Given the description of an element on the screen output the (x, y) to click on. 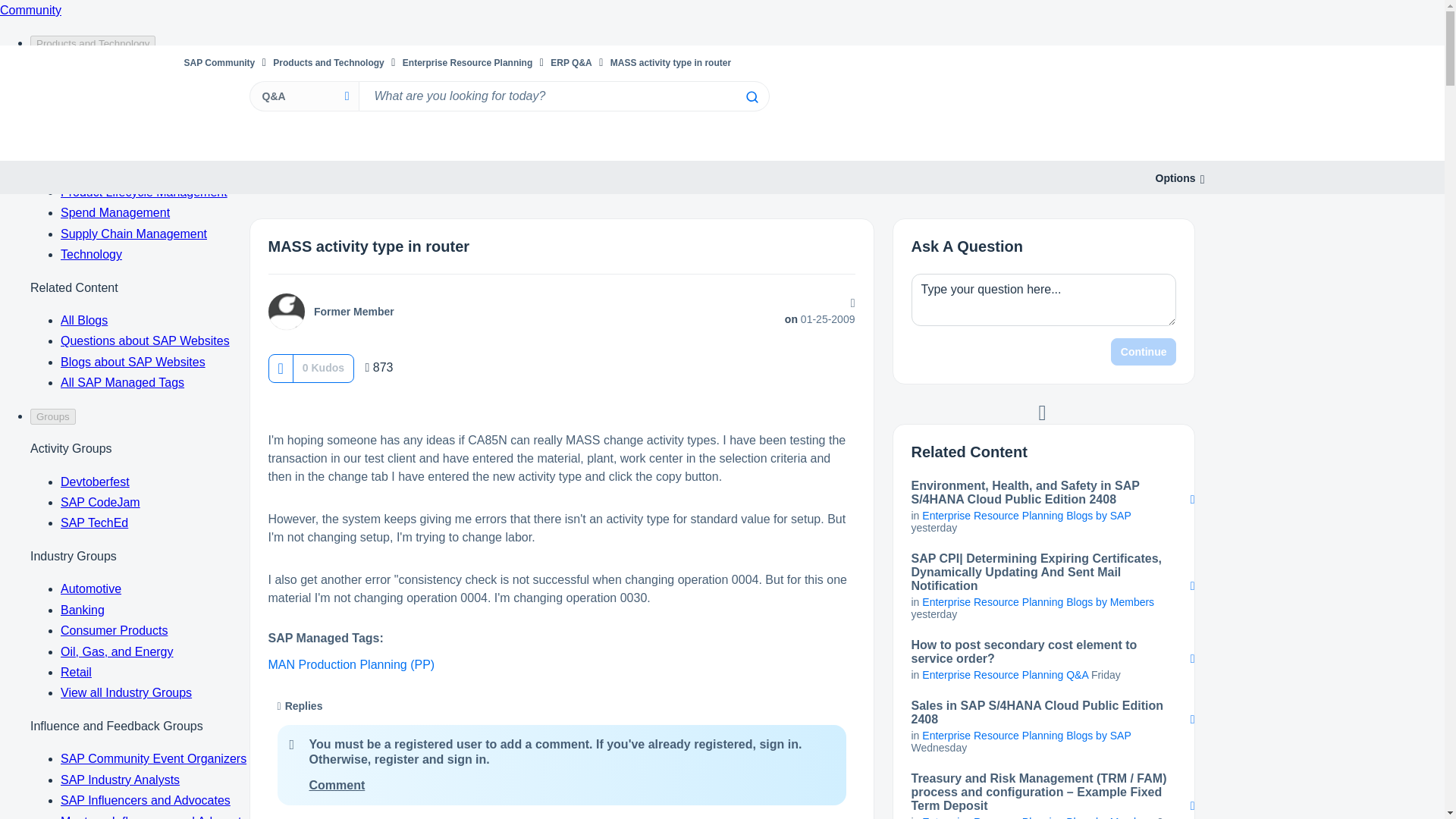
Show option menu (1176, 178)
Products and Technology (328, 62)
Continue (1143, 351)
The total number of kudos this post has received. (323, 367)
Search (563, 96)
Click here to give kudos to this post. (279, 367)
Search Granularity (303, 96)
Search (750, 96)
SAP Community (218, 62)
Search (750, 96)
Enterprise Resource Planning (467, 62)
Comment (336, 784)
Search (750, 96)
Options (1176, 178)
